Given the description of an element on the screen output the (x, y) to click on. 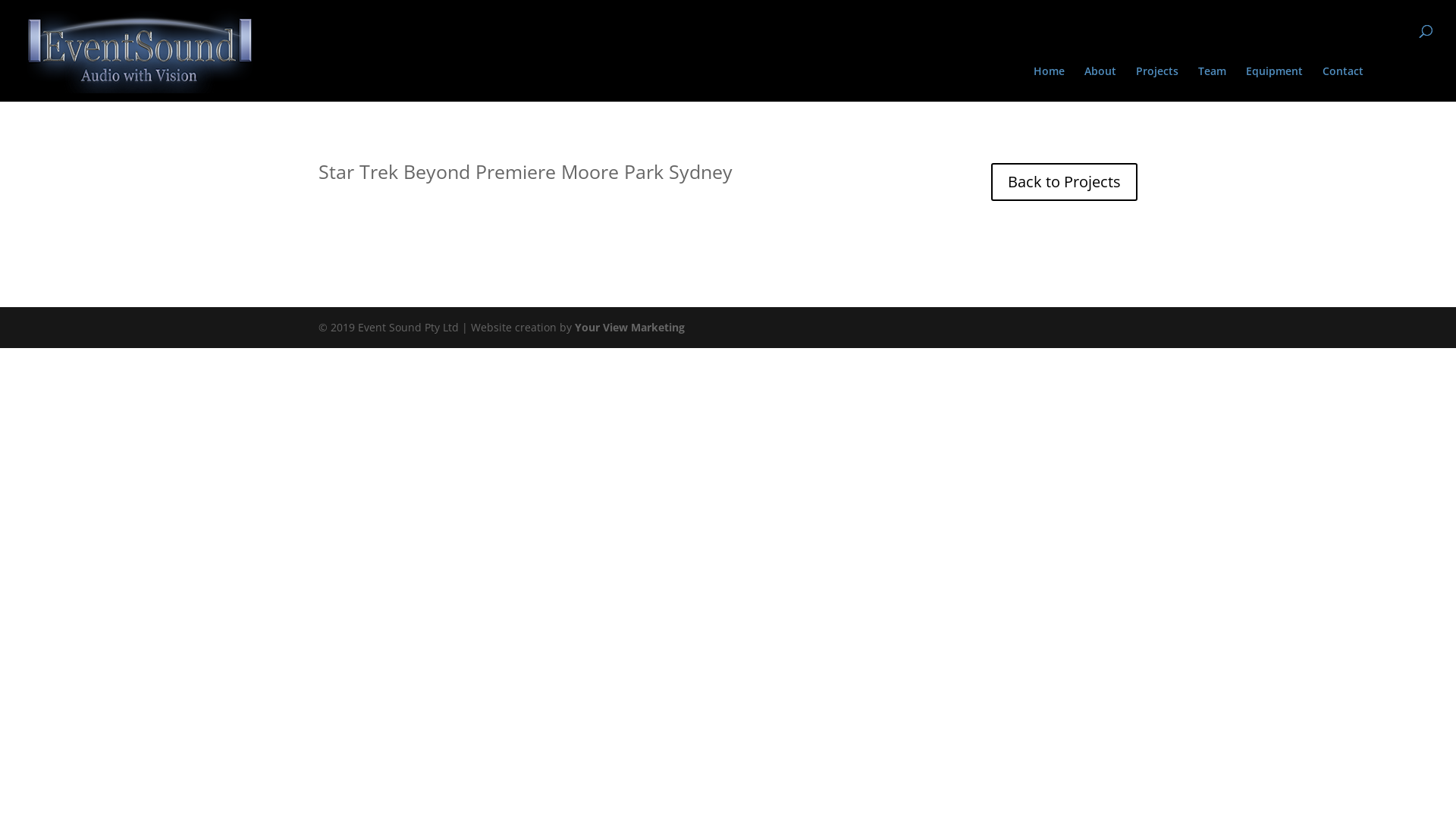
Contact Element type: text (1342, 83)
About Element type: text (1100, 83)
Team Element type: text (1212, 83)
Projects Element type: text (1156, 83)
Home Element type: text (1048, 83)
Back to Projects Element type: text (1064, 181)
Your View Marketing Element type: text (629, 327)
Equipment Element type: text (1273, 83)
